Given the description of an element on the screen output the (x, y) to click on. 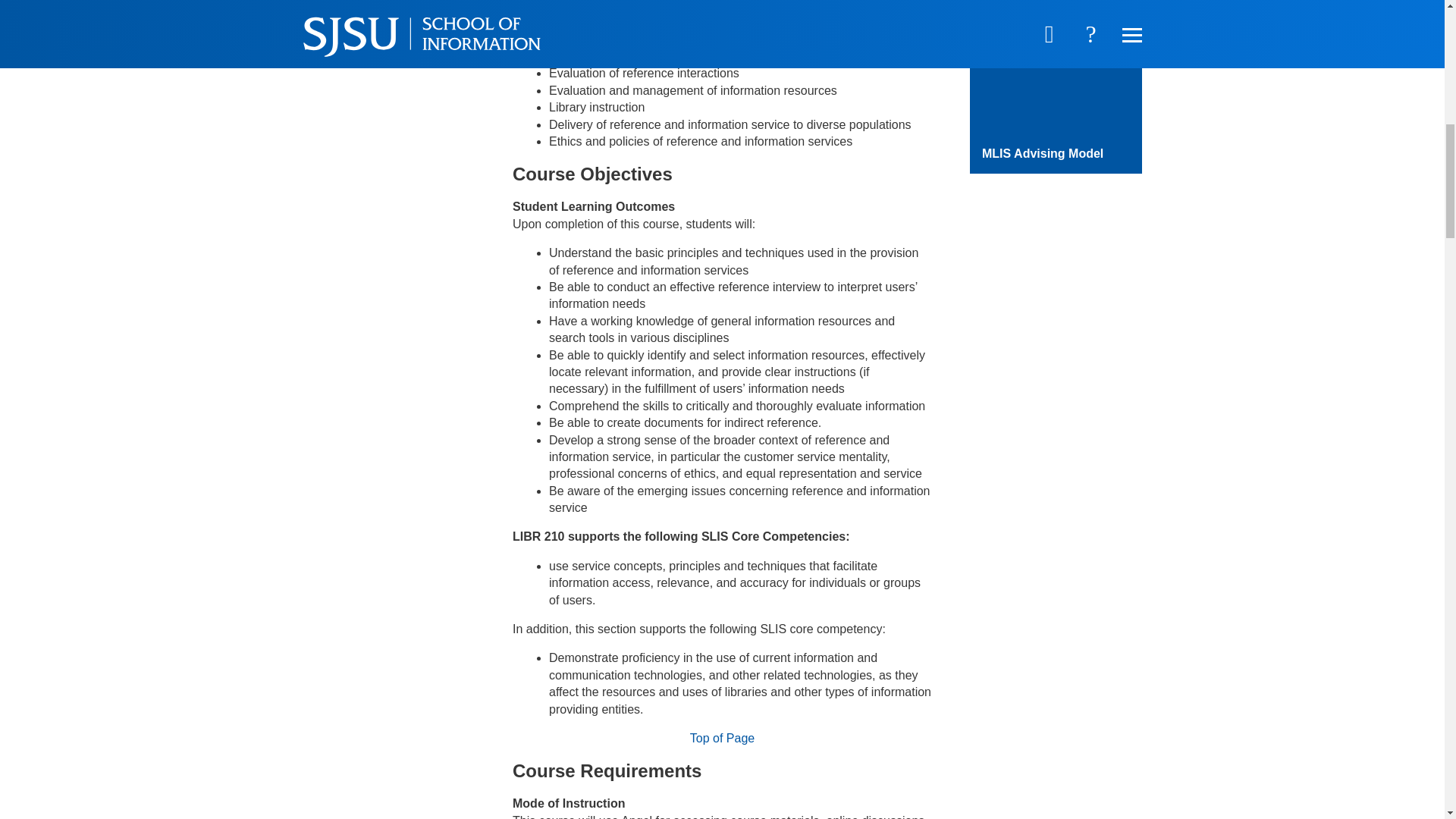
Top of Page (722, 738)
